Given the description of an element on the screen output the (x, y) to click on. 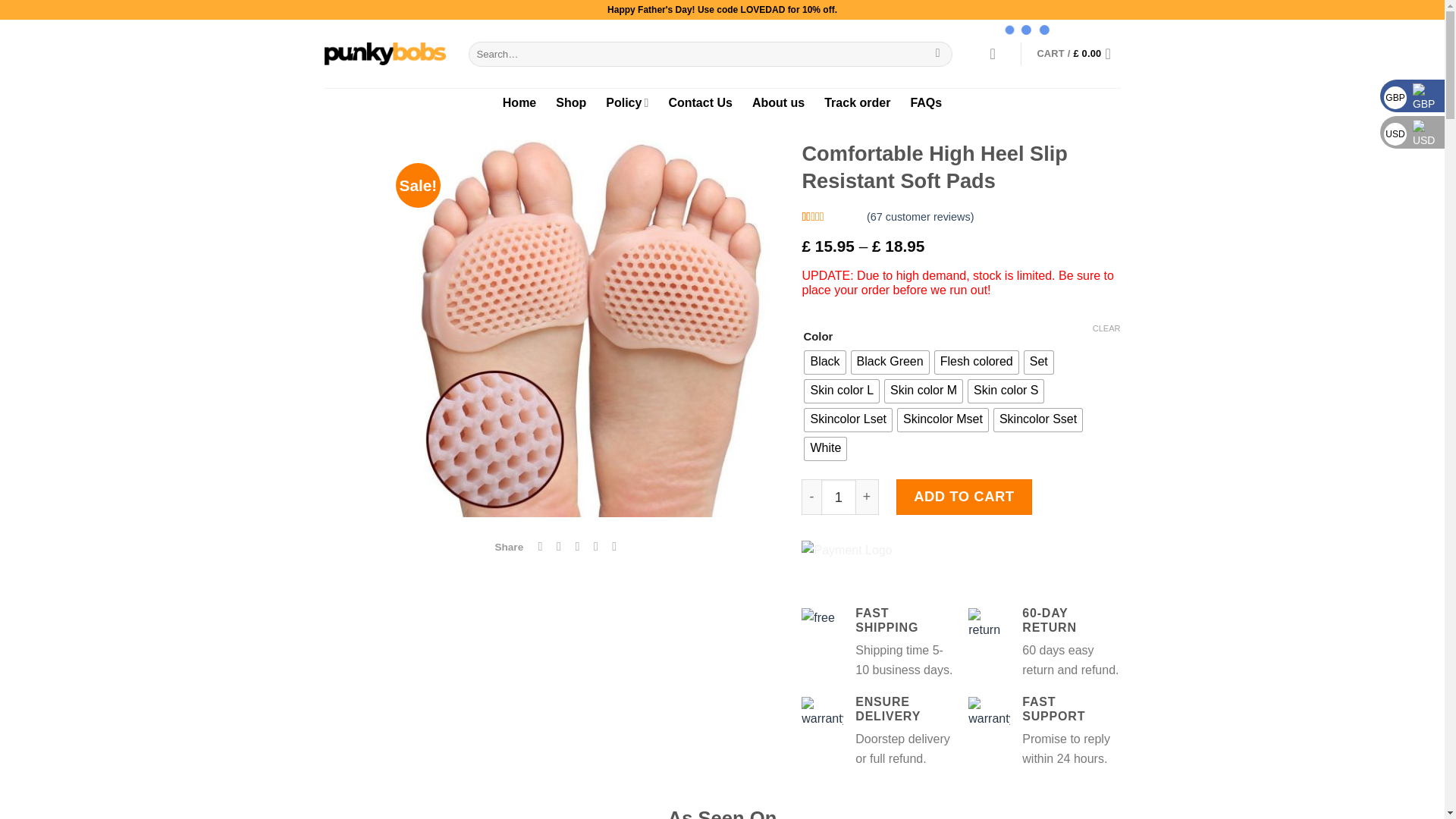
Contact Us (700, 102)
Search (937, 53)
About us (778, 102)
Home (518, 102)
Punkybobs - Explore Creativity Here! (384, 53)
Shop (571, 102)
Cart (1077, 53)
FAQs (926, 102)
1 (838, 496)
Track order (856, 102)
